Given the description of an element on the screen output the (x, y) to click on. 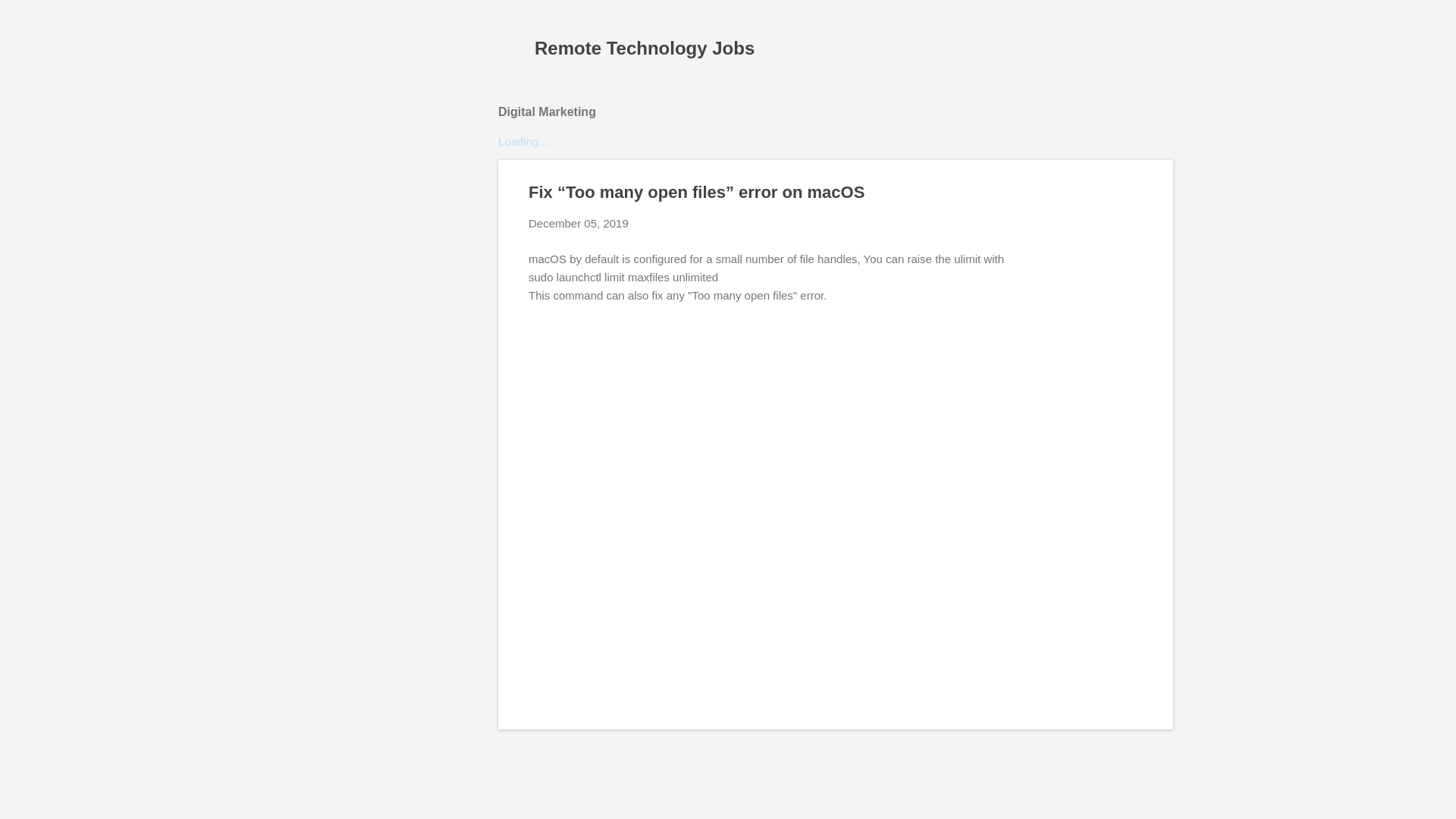
December 05, 2019 (578, 223)
Loading... (522, 141)
Search (29, 18)
Remote Technology Jobs (644, 47)
permanent link (578, 223)
